Given the description of an element on the screen output the (x, y) to click on. 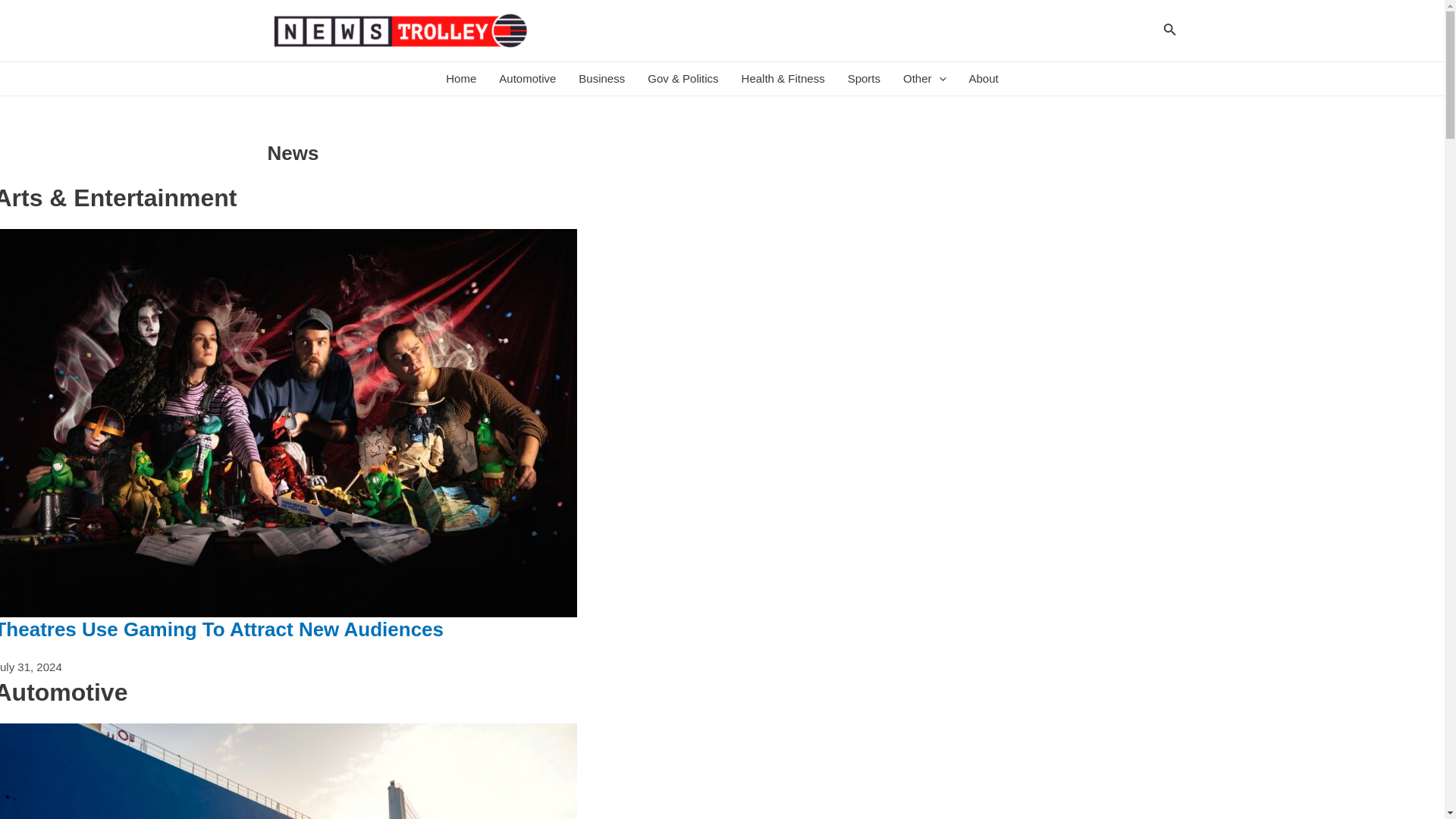
Business (601, 78)
Other (924, 78)
Home (460, 78)
Sports (863, 78)
About (984, 78)
Automotive (527, 78)
